Given the description of an element on the screen output the (x, y) to click on. 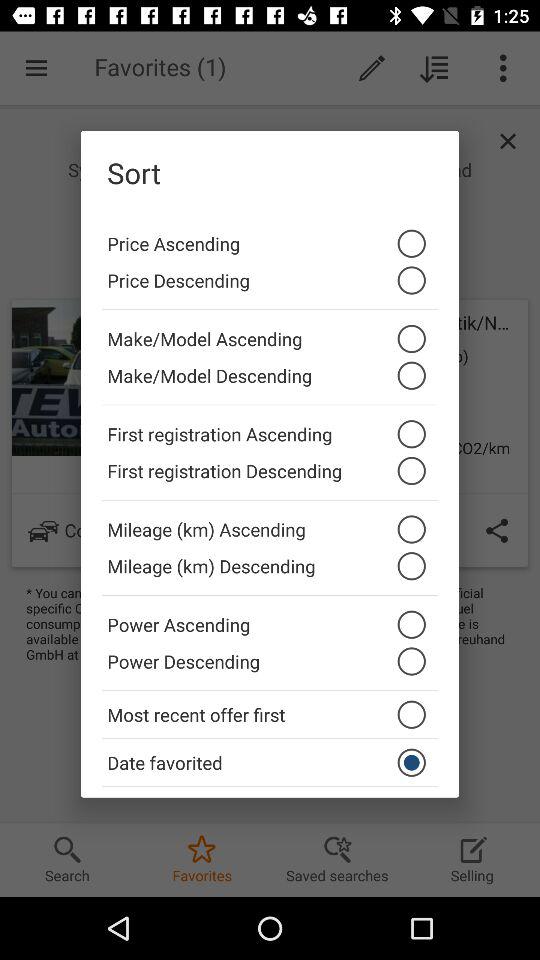
press the most recent offer item (269, 714)
